Given the description of an element on the screen output the (x, y) to click on. 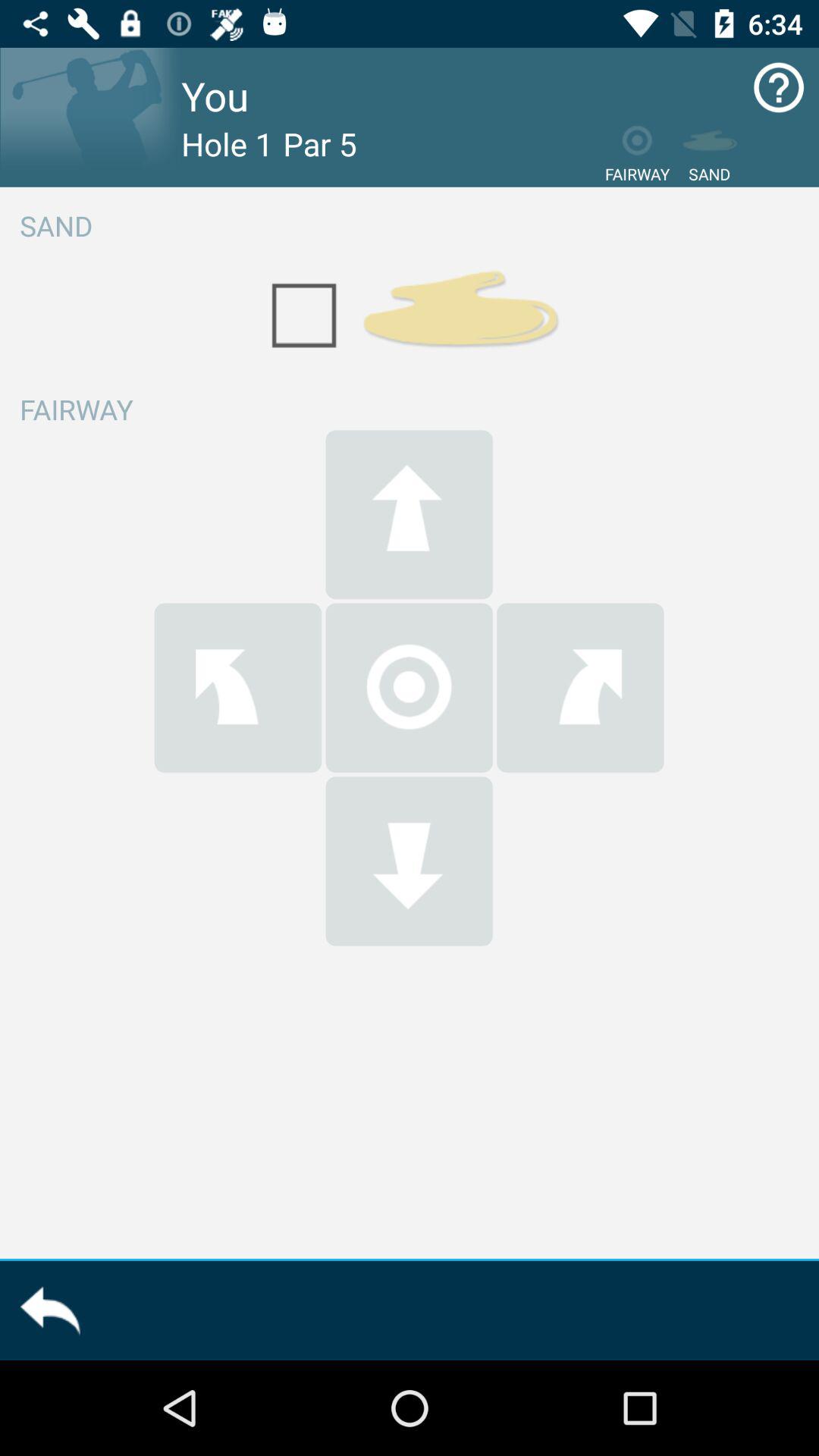
link to profile (90, 117)
